Given the description of an element on the screen output the (x, y) to click on. 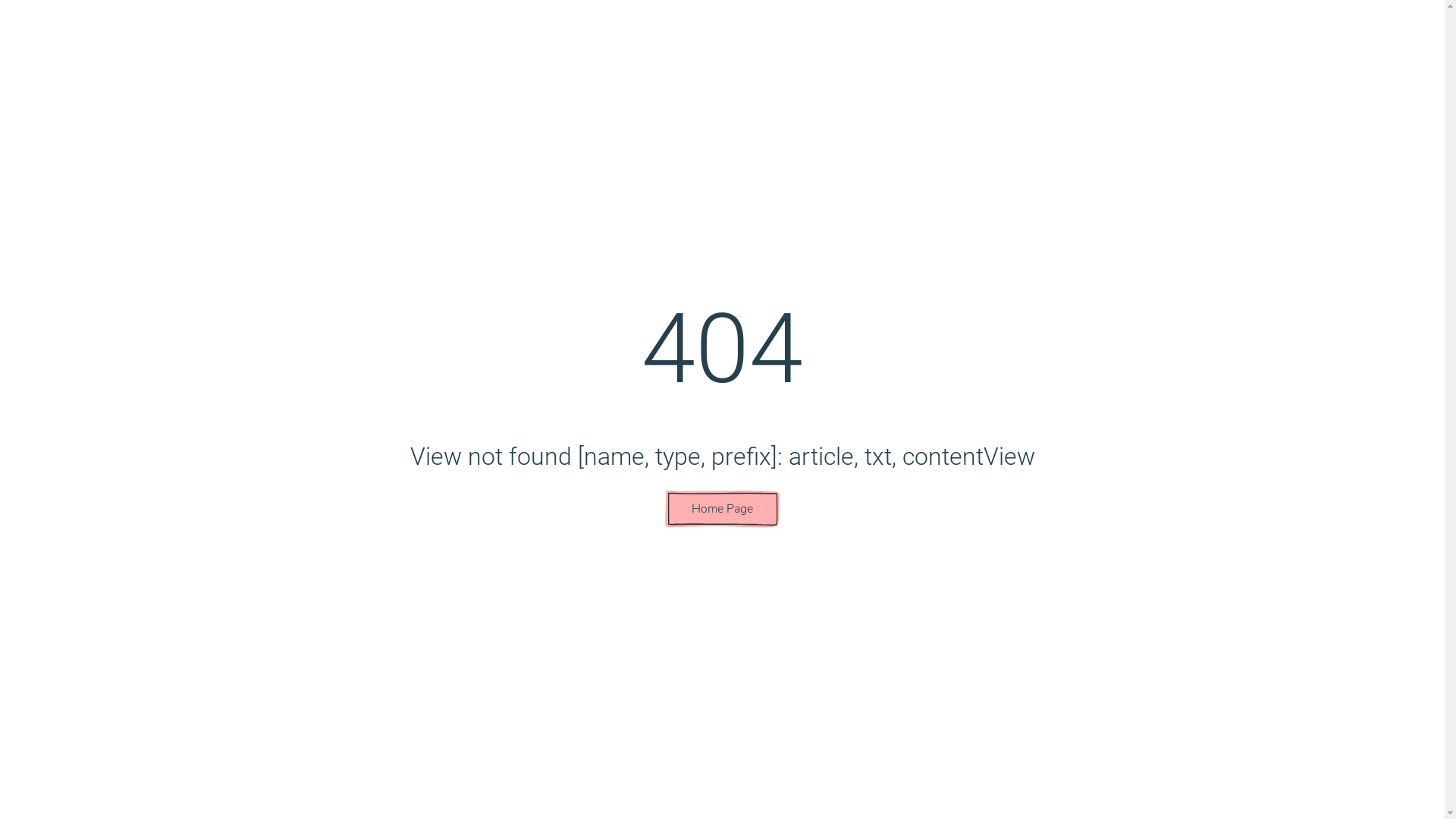
Home Page Element type: text (722, 508)
